Given the description of an element on the screen output the (x, y) to click on. 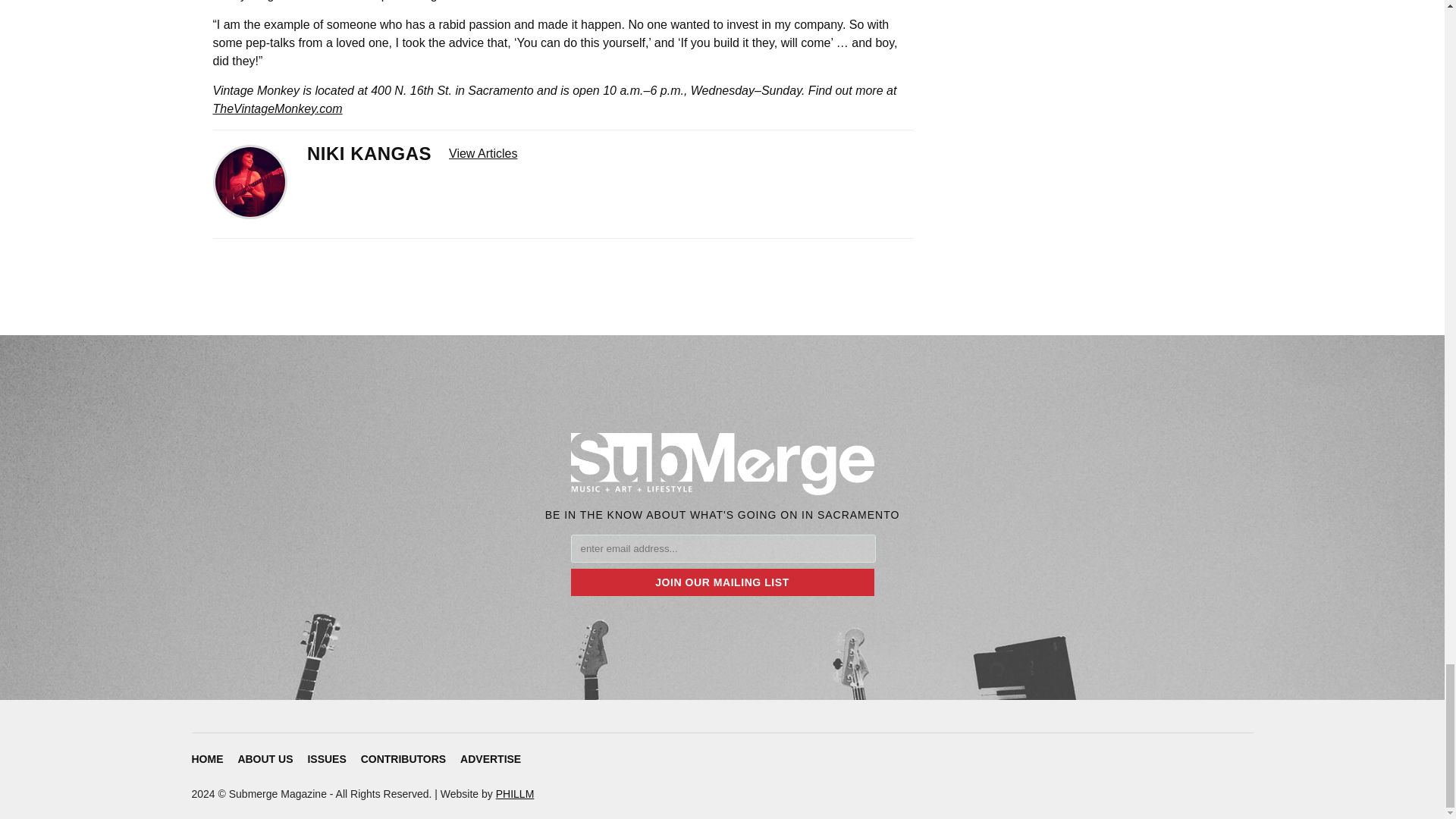
Join Our Mailing List (721, 582)
TheVintageMonkey.com (277, 108)
View Articles (482, 153)
